Given the description of an element on the screen output the (x, y) to click on. 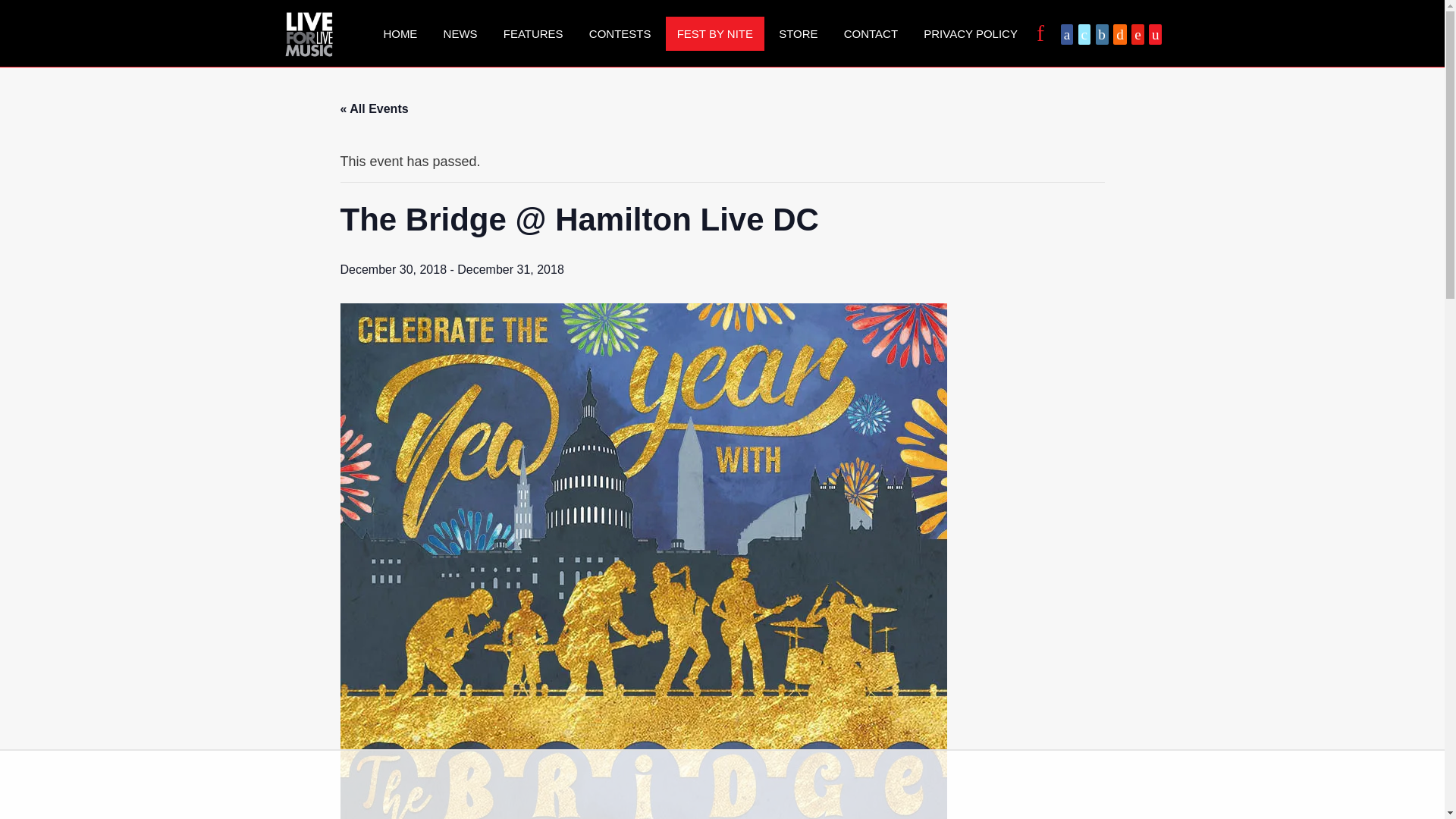
CONTESTS (620, 33)
FEATURES (533, 33)
HOME (399, 33)
PRIVACY POLICY (970, 33)
FEST BY NITE (714, 33)
CONTACT (870, 33)
STORE (797, 33)
NEWS (460, 33)
L4LM (308, 32)
